Given the description of an element on the screen output the (x, y) to click on. 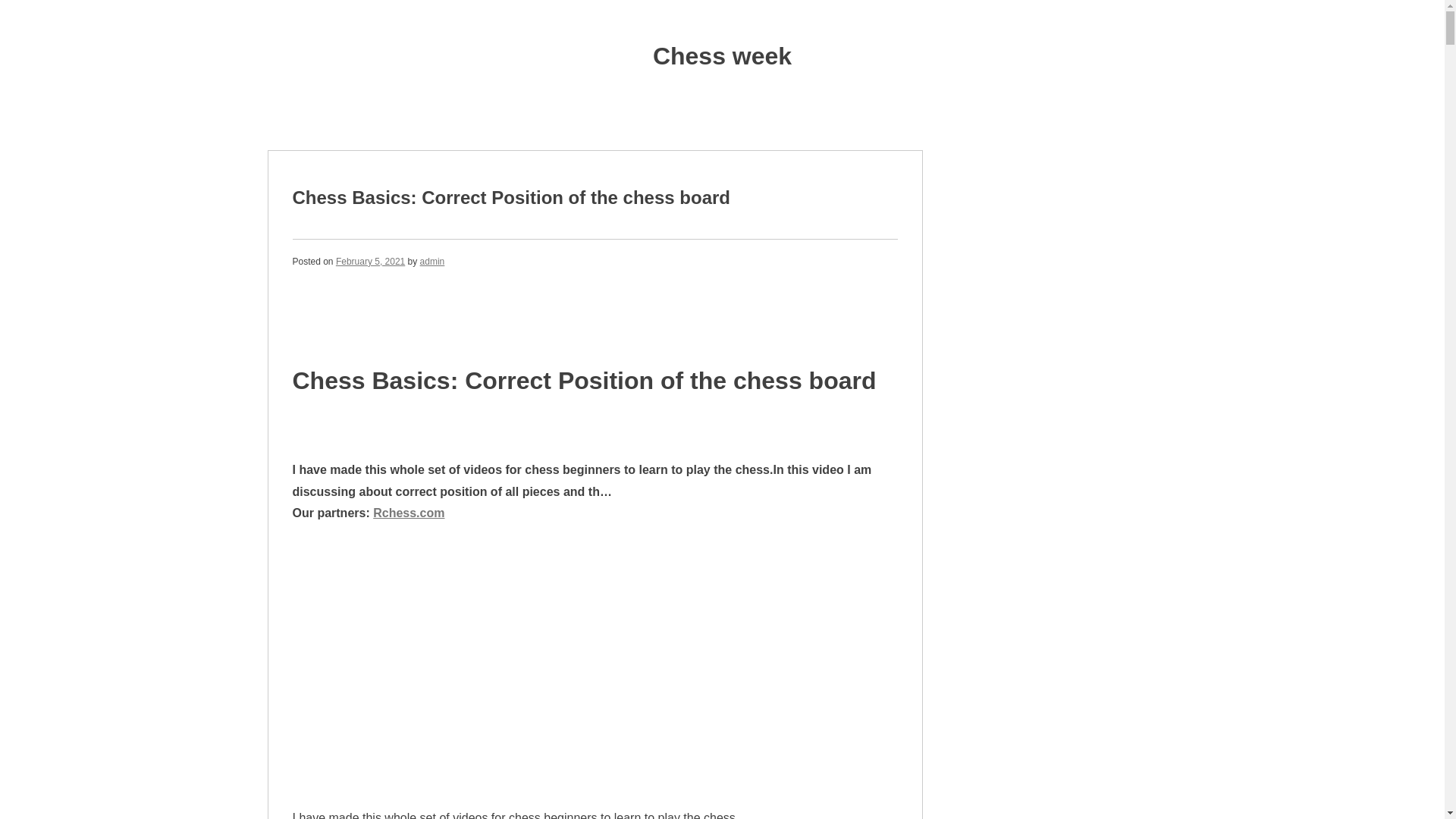
February 5, 2021 Element type: text (369, 261)
Chess Basics: Correct Position of the chess board Element type: text (511, 197)
admin Element type: text (432, 261)
Rchess.com Element type: text (408, 512)
Chess week Element type: text (721, 55)
